Given the description of an element on the screen output the (x, y) to click on. 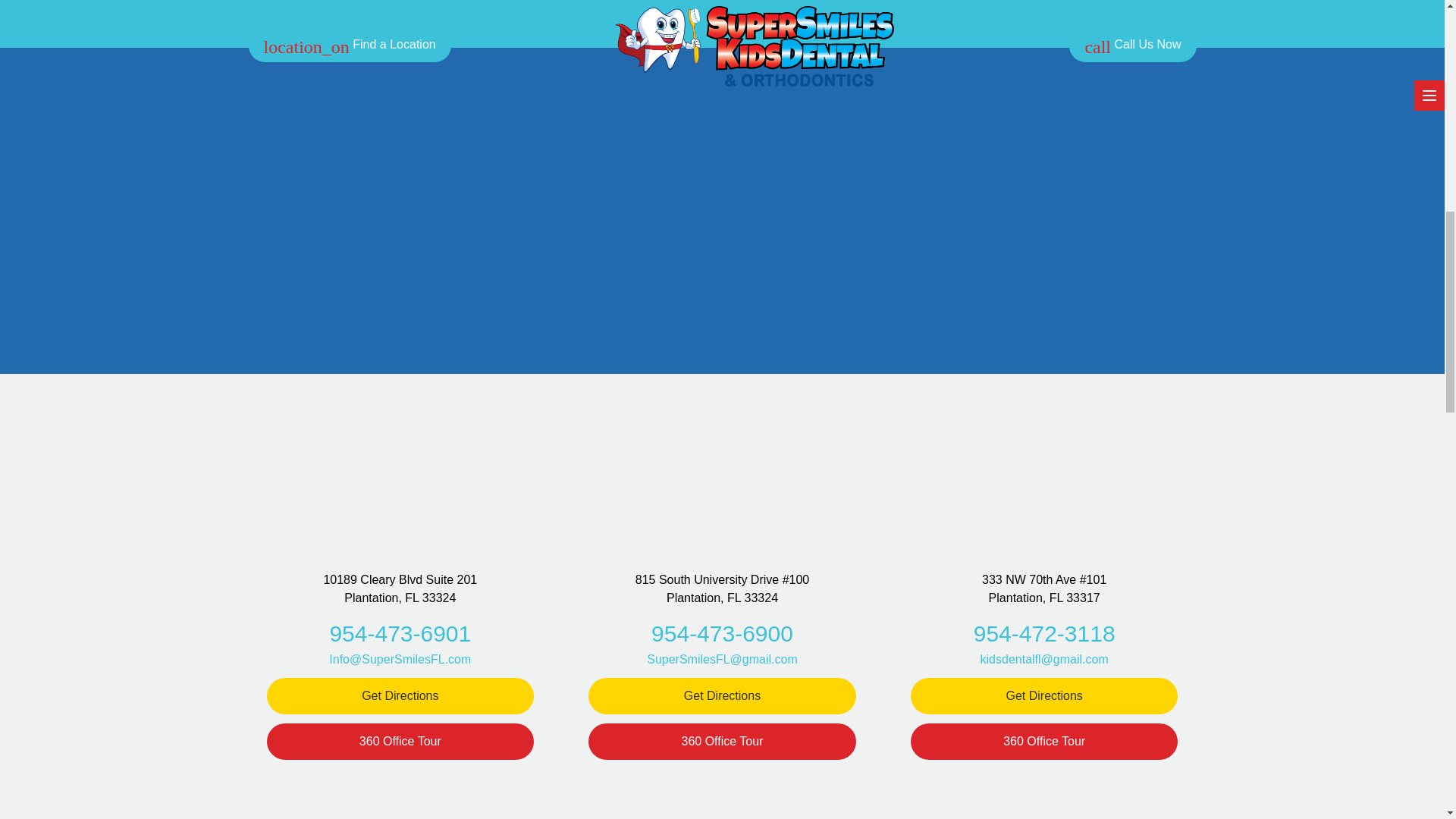
360 Office Tour (722, 741)
360 Office Tour (400, 741)
954-472-3118 (1044, 632)
Get Directions (1044, 696)
954-473-6901 (399, 632)
360 Office Tour (1044, 741)
Get Directions (722, 696)
954-473-6900 (721, 632)
Get Directions (400, 696)
